Given the description of an element on the screen output the (x, y) to click on. 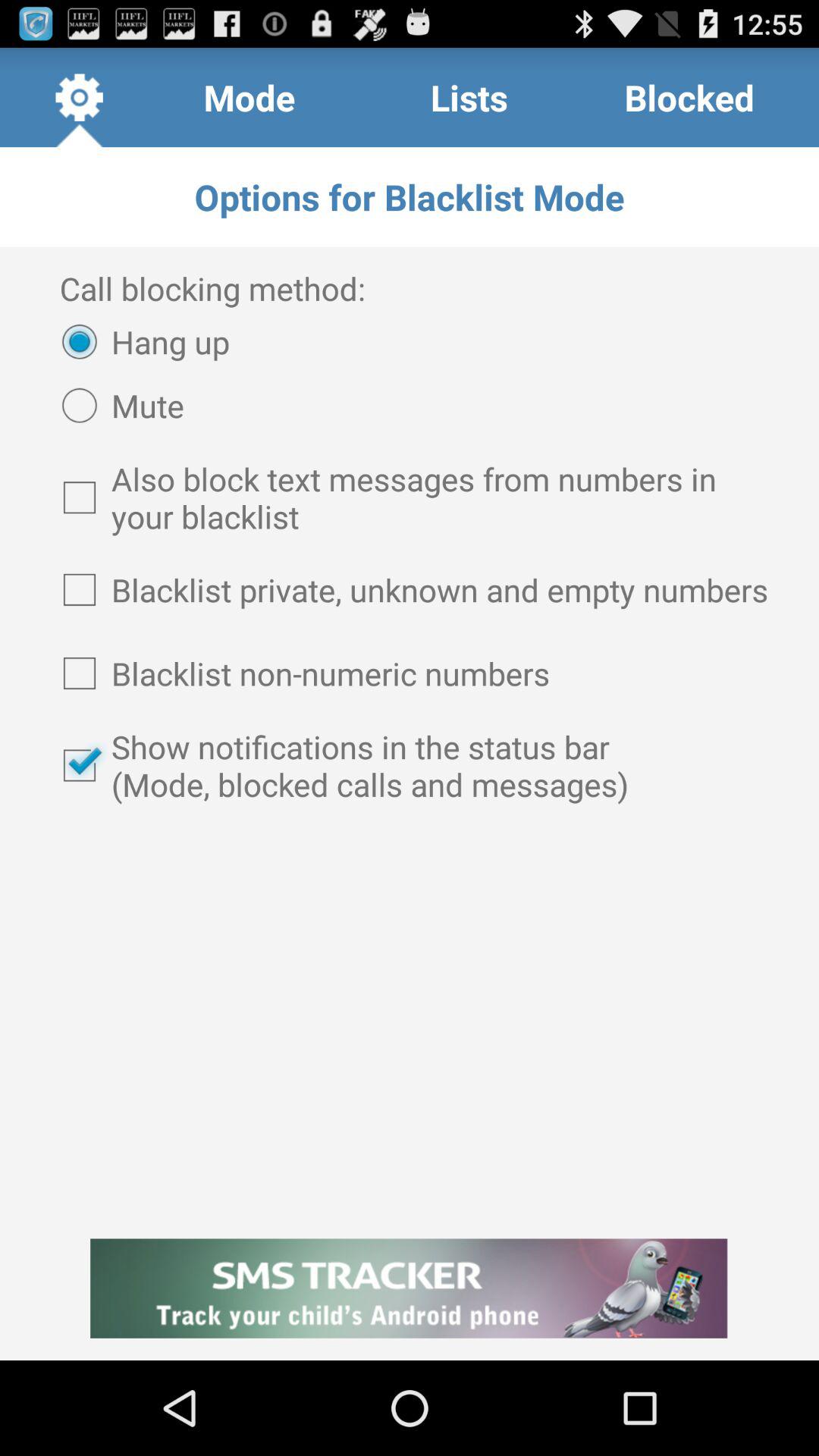
turn on the blacklist private unknown checkbox (409, 589)
